Given the description of an element on the screen output the (x, y) to click on. 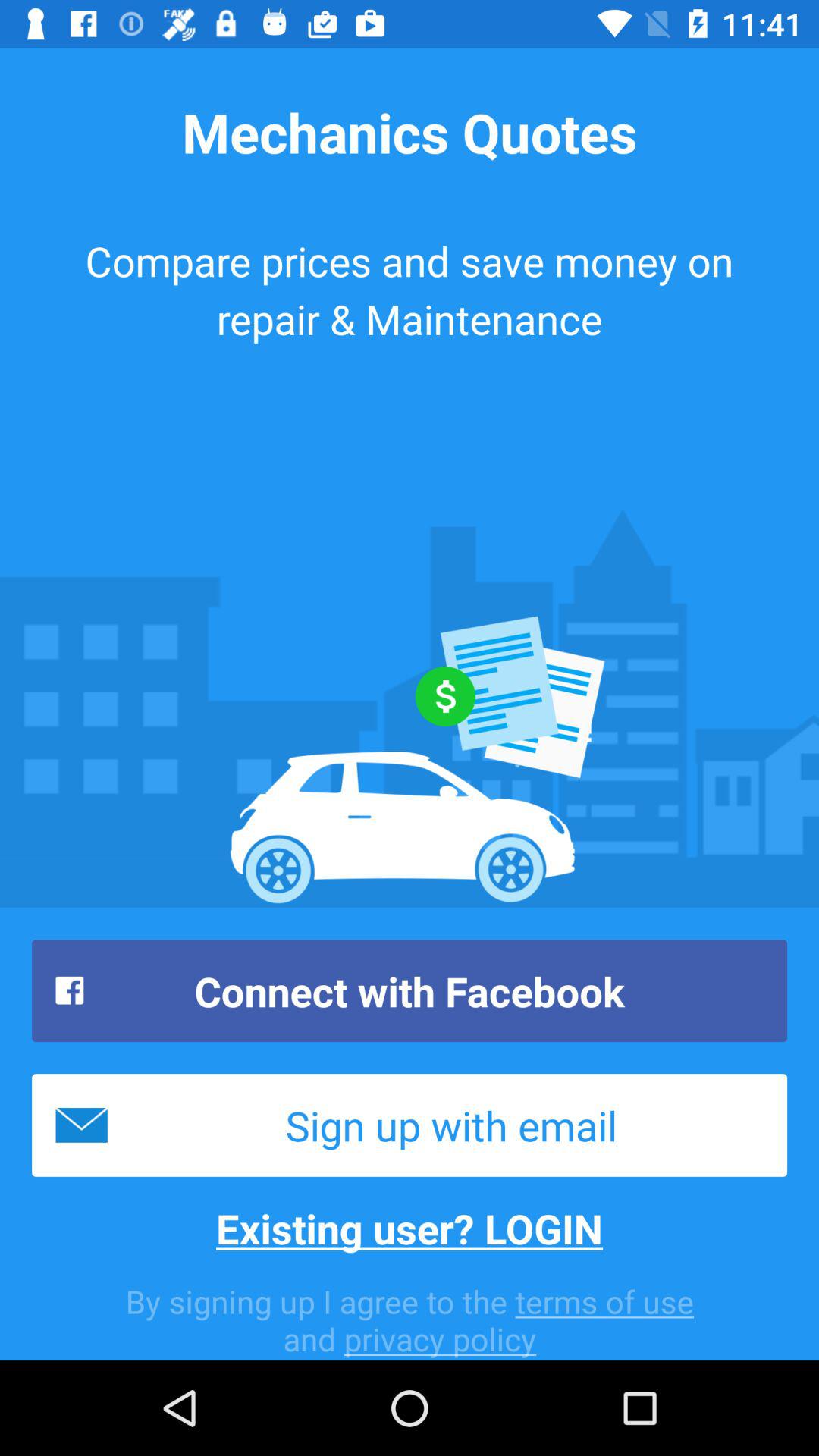
turn off icon above the existing user? login item (409, 1124)
